Given the description of an element on the screen output the (x, y) to click on. 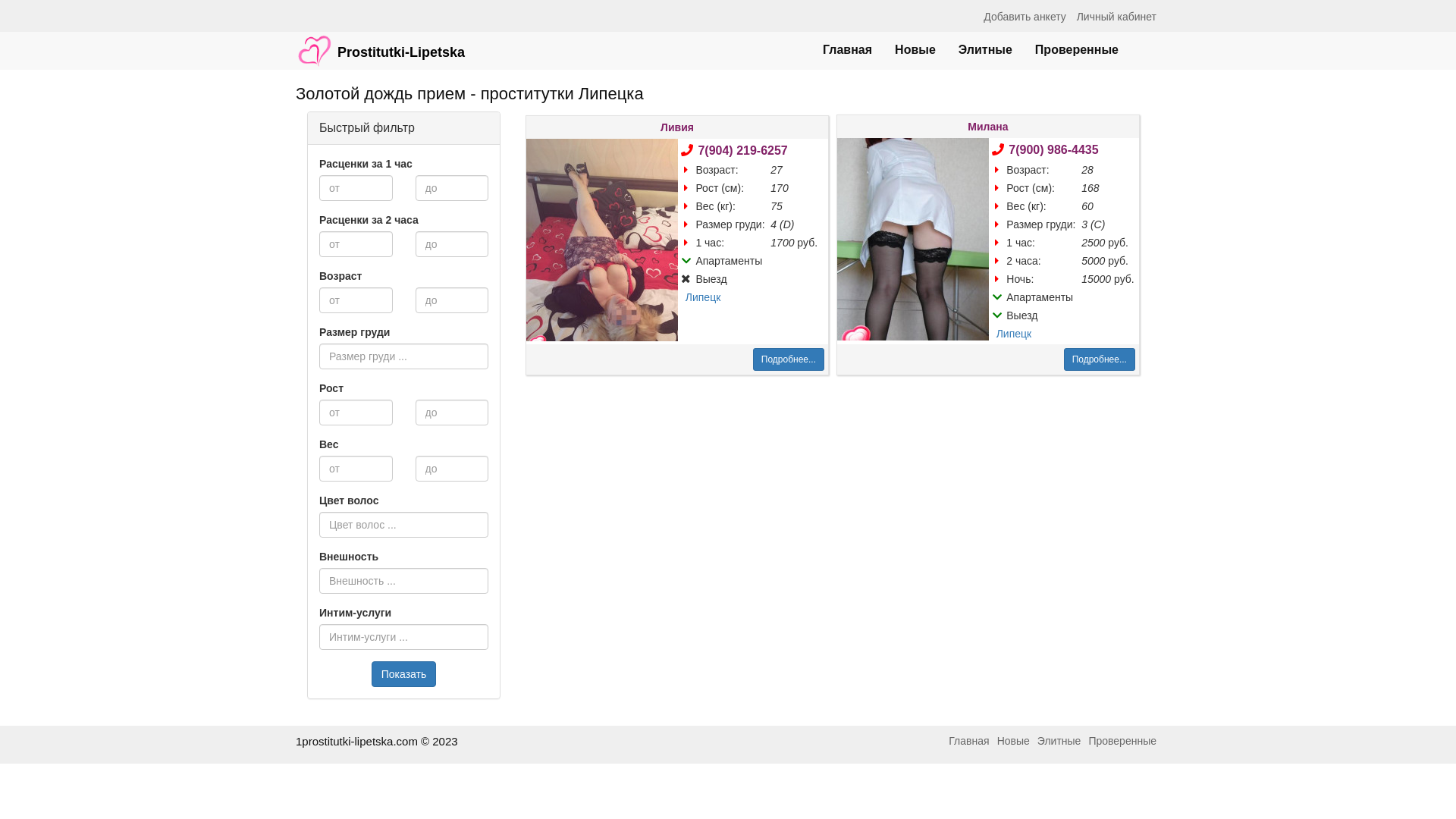
Prostitutki-Lipetska Element type: text (380, 43)
